Given the description of an element on the screen output the (x, y) to click on. 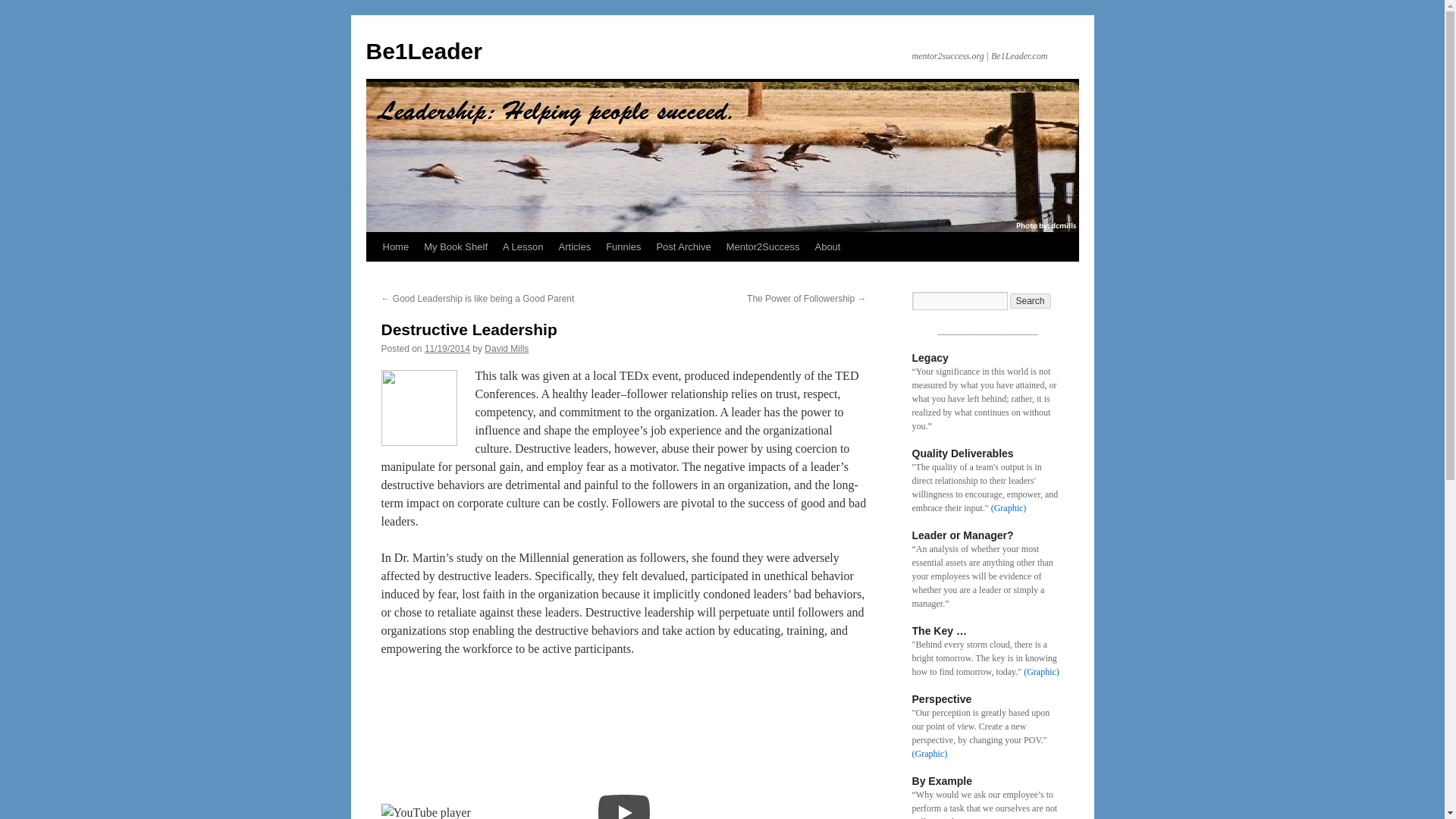
Post Archive (682, 246)
05:13 (447, 348)
David Mills (506, 348)
Search (1030, 300)
Funnies (622, 246)
View all posts by David Mills (506, 348)
My Book Shelf (455, 246)
Articles (574, 246)
Search (1030, 300)
A Lesson (523, 246)
